Given the description of an element on the screen output the (x, y) to click on. 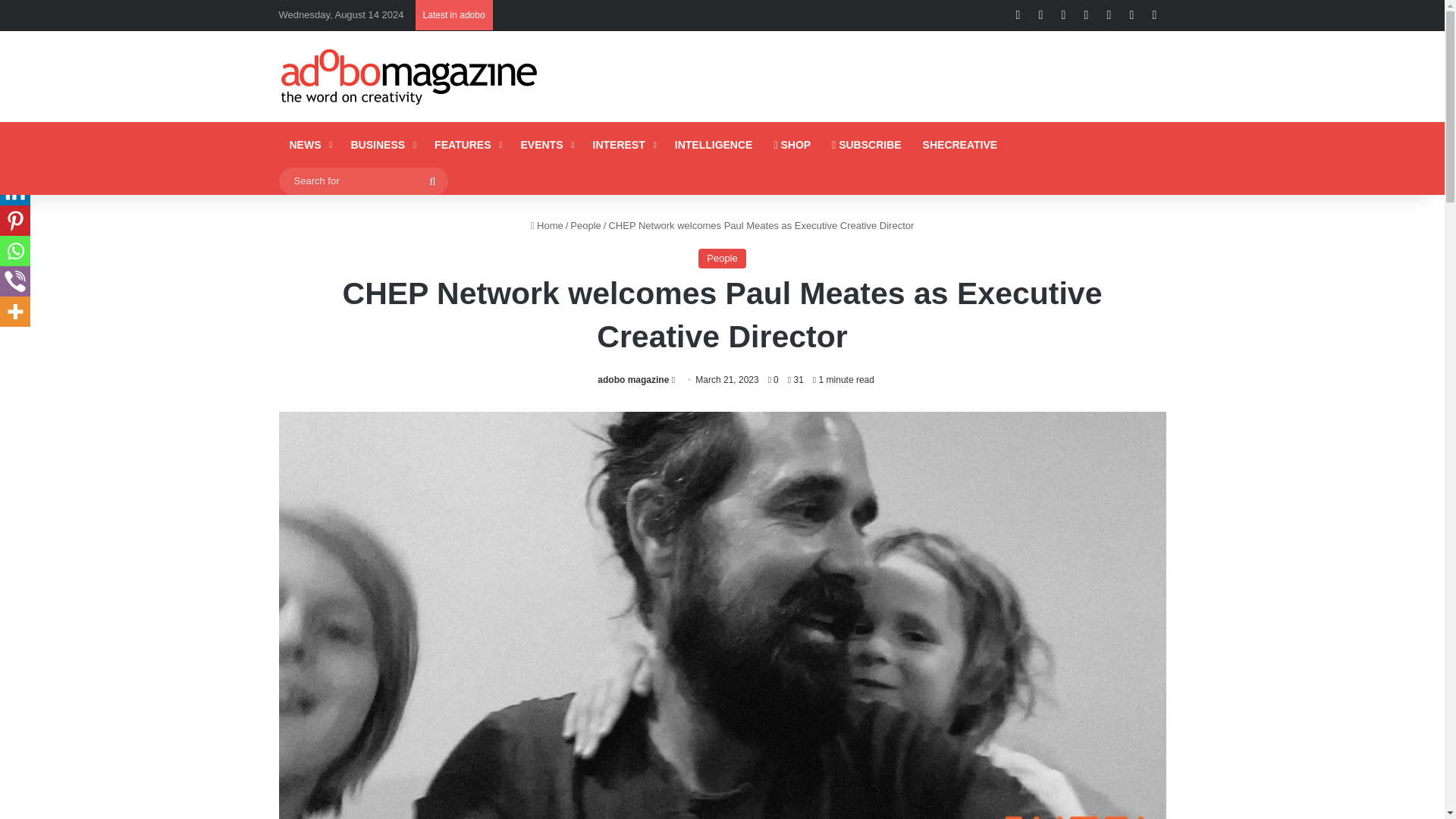
FEATURES (466, 144)
EVENTS (544, 144)
adobo magazine (632, 379)
Search for (363, 180)
INTEREST (622, 144)
BUSINESS (381, 144)
NEWS (309, 144)
adobo Magazine Online (409, 76)
